Given the description of an element on the screen output the (x, y) to click on. 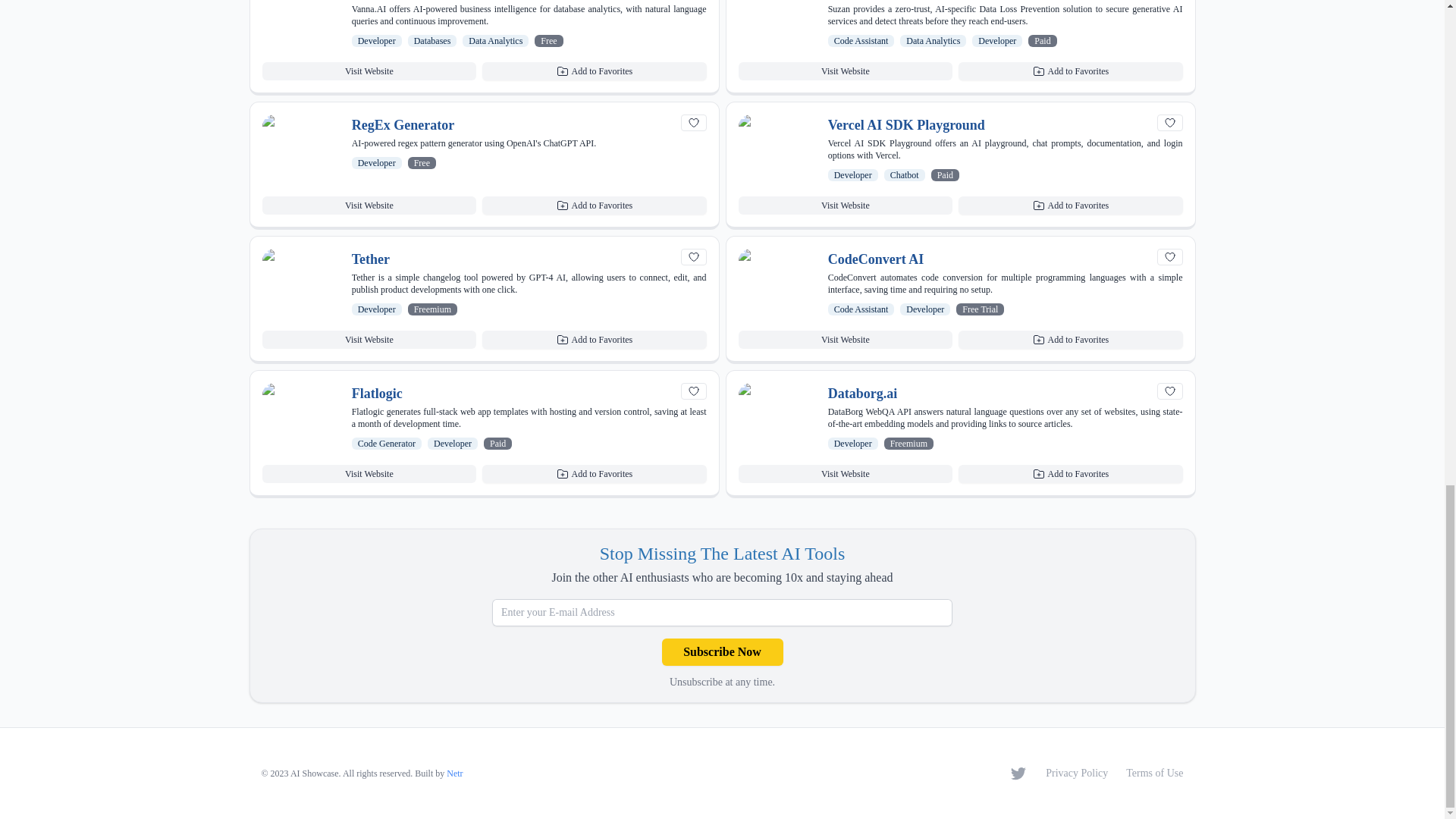
Developer (377, 40)
Data Analytics (495, 40)
Databases (432, 40)
Vanna AI (379, 0)
